Given the description of an element on the screen output the (x, y) to click on. 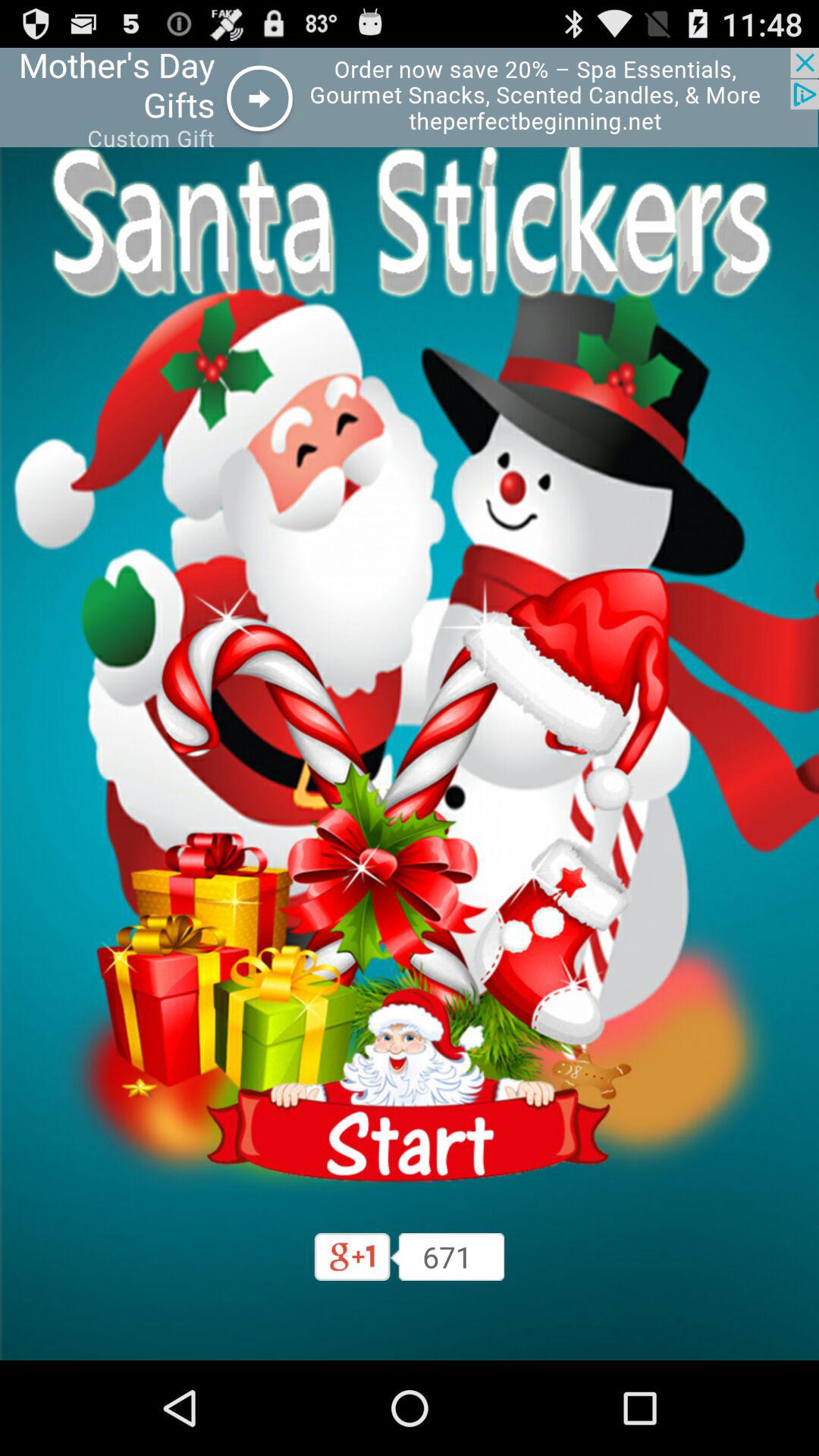
start app (409, 1085)
